Given the description of an element on the screen output the (x, y) to click on. 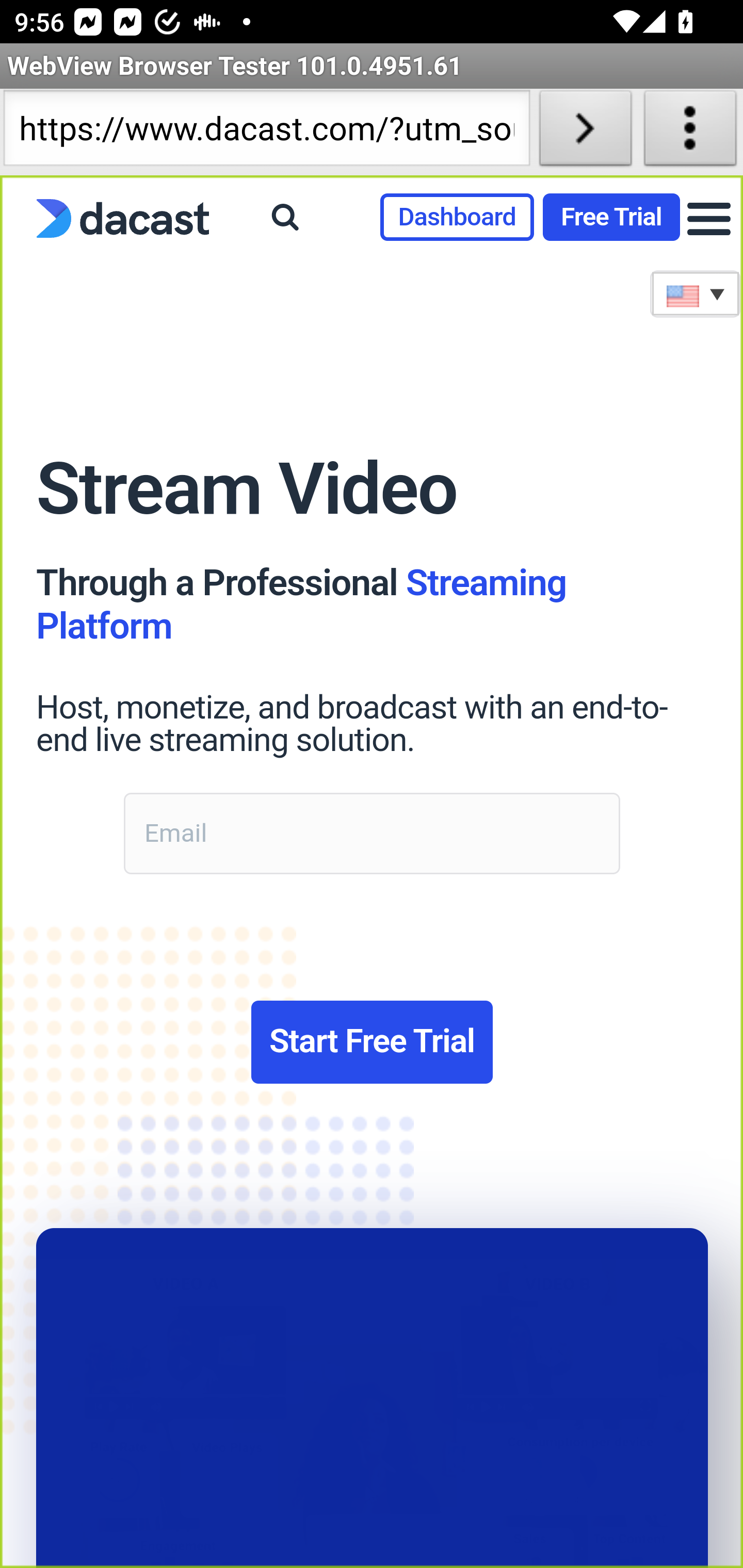
Load URL (585, 132)
About WebView (690, 132)
 (285, 215)
Dashboard (456, 216)
Free Trial (610, 216)
logo dacast (114, 219)
English (695, 293)
Streaming Platform (301, 604)
Start Free Trial (371, 1041)
